Given the description of an element on the screen output the (x, y) to click on. 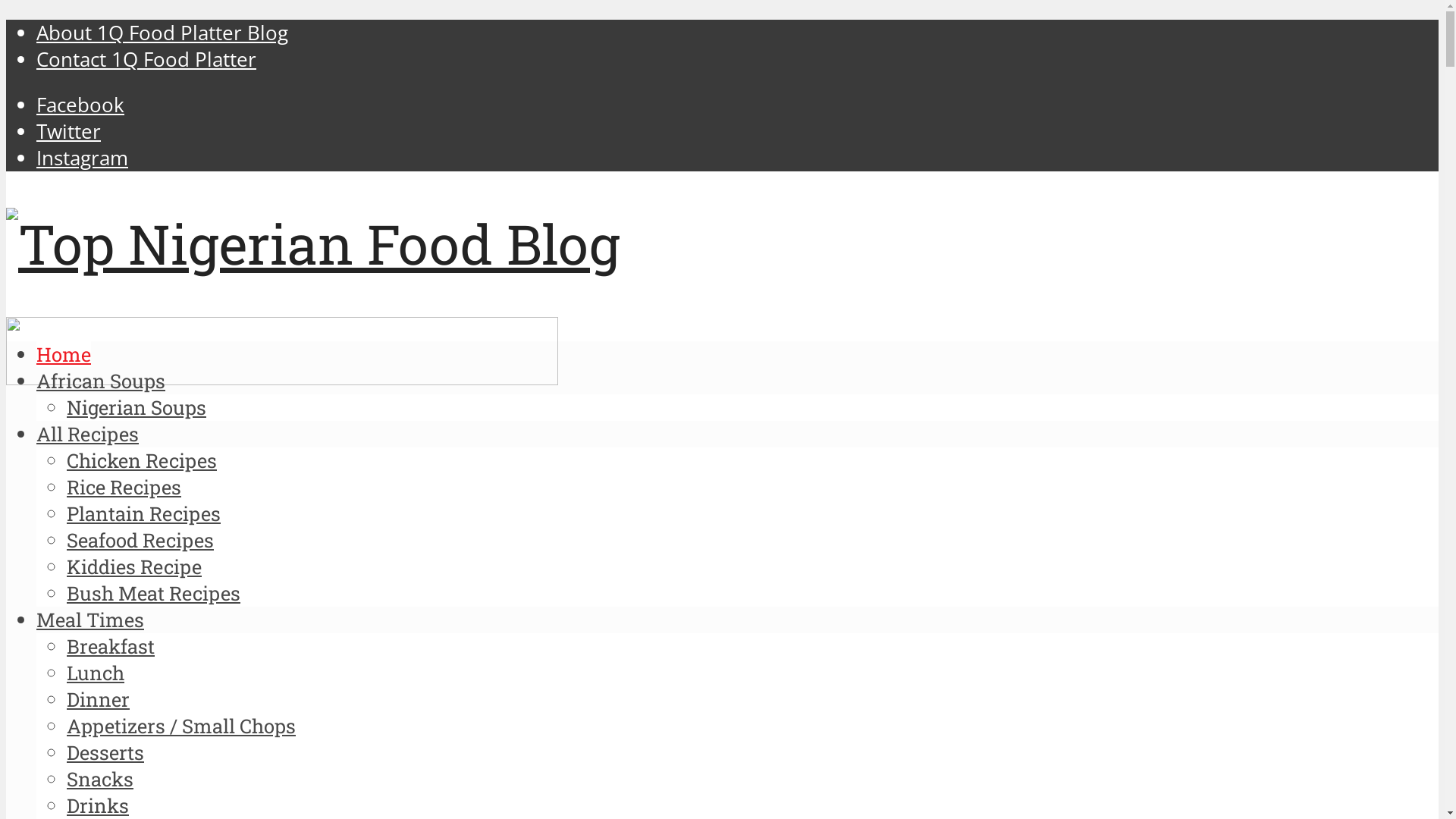
About 1Q Food Platter Blog Element type: text (162, 32)
Lunch Element type: text (95, 672)
Contact 1Q Food Platter Element type: text (146, 59)
Facebook Element type: text (80, 104)
Plantain Recipes Element type: text (143, 513)
Nigerian Soups Element type: text (136, 407)
Instagram Element type: text (82, 157)
Meal Times Element type: text (90, 619)
All Recipes Element type: text (87, 433)
Bush Meat Recipes Element type: text (153, 592)
Snacks Element type: text (99, 778)
Dinner Element type: text (97, 699)
Kiddies Recipe Element type: text (133, 566)
Desserts Element type: text (105, 752)
Chicken Recipes Element type: text (141, 460)
Appetizers / Small Chops Element type: text (180, 725)
African Soups Element type: text (100, 380)
Twitter Element type: text (68, 131)
Rice Recipes Element type: text (123, 486)
Seafood Recipes Element type: text (139, 539)
Breakfast Element type: text (110, 645)
Drinks Element type: text (97, 805)
Home Element type: text (63, 354)
